Given the description of an element on the screen output the (x, y) to click on. 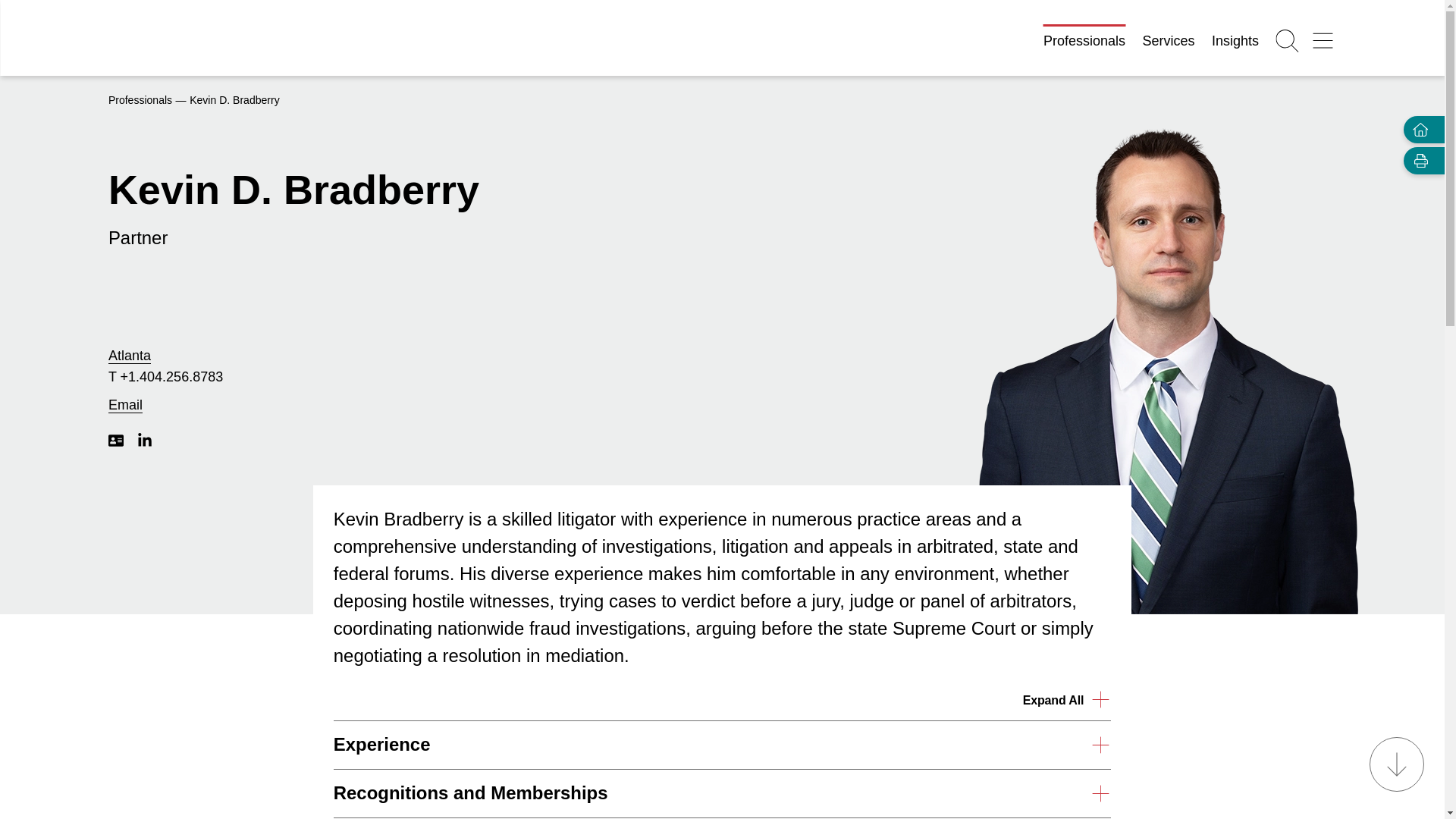
LinkedIn (144, 440)
Insights (1235, 40)
Atlanta (129, 355)
Professionals (1084, 40)
Expand All (1067, 699)
Recognitions and Memberships (722, 792)
Recognitions and Memberships (722, 793)
Services (1168, 40)
Email (124, 405)
Experience (722, 745)
Experience (722, 744)
Professionals (139, 100)
